Given the description of an element on the screen output the (x, y) to click on. 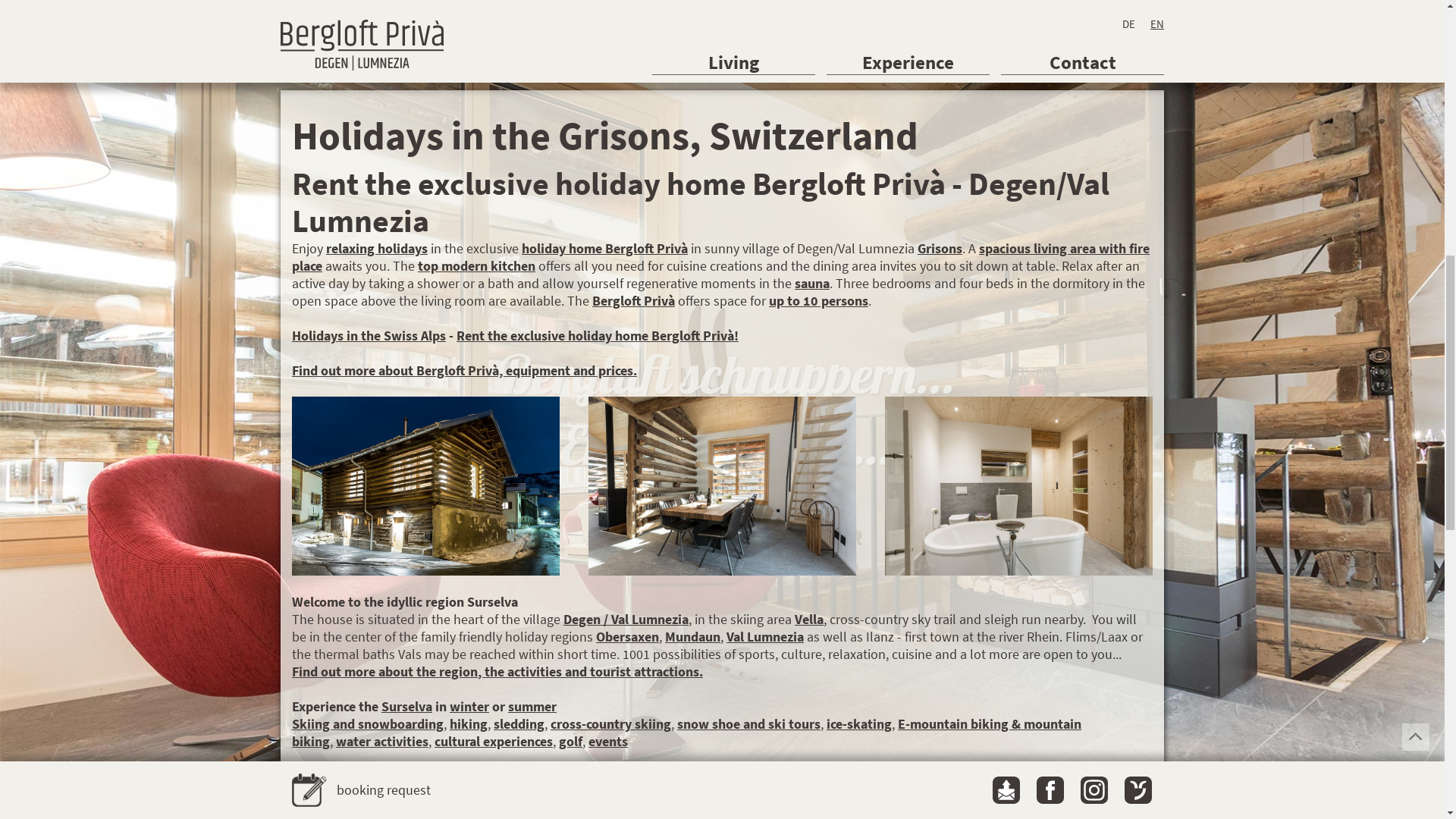
DE Element type: text (1128, 752)
Living Element type: text (733, 790)
Contact Element type: text (1082, 790)
Experience Element type: text (907, 790)
